Given the description of an element on the screen output the (x, y) to click on. 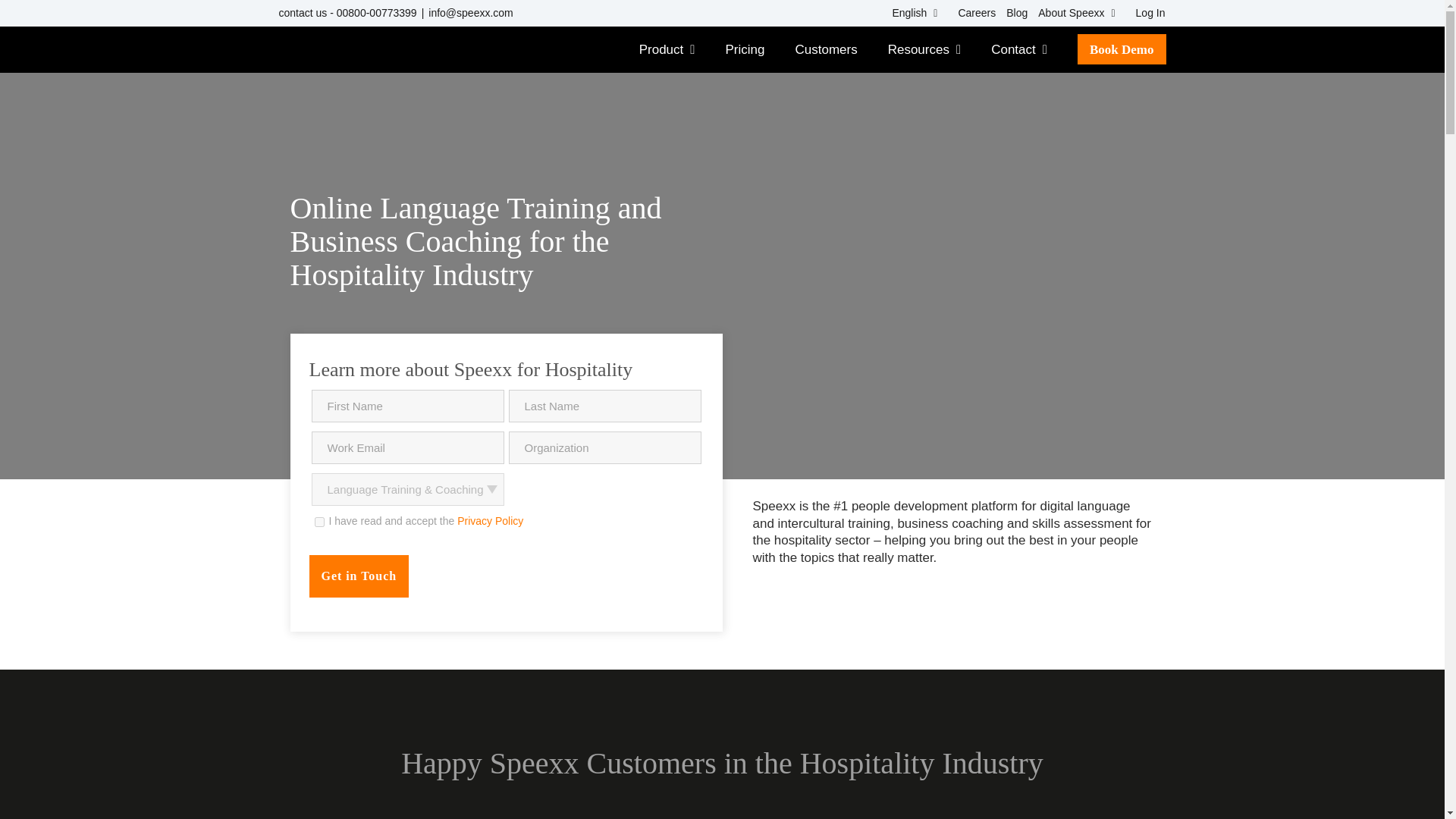
Resources (924, 49)
English (914, 13)
Customers (825, 49)
second-top-career (971, 13)
nav-demo-btn (1121, 49)
second-top-login (1145, 13)
Careers (971, 13)
True (318, 521)
English (914, 13)
Blog (1011, 13)
second-top-blog (1011, 13)
Log In (1145, 13)
00800-00773399 (376, 12)
About Speexx (1075, 13)
Product (667, 49)
